Given the description of an element on the screen output the (x, y) to click on. 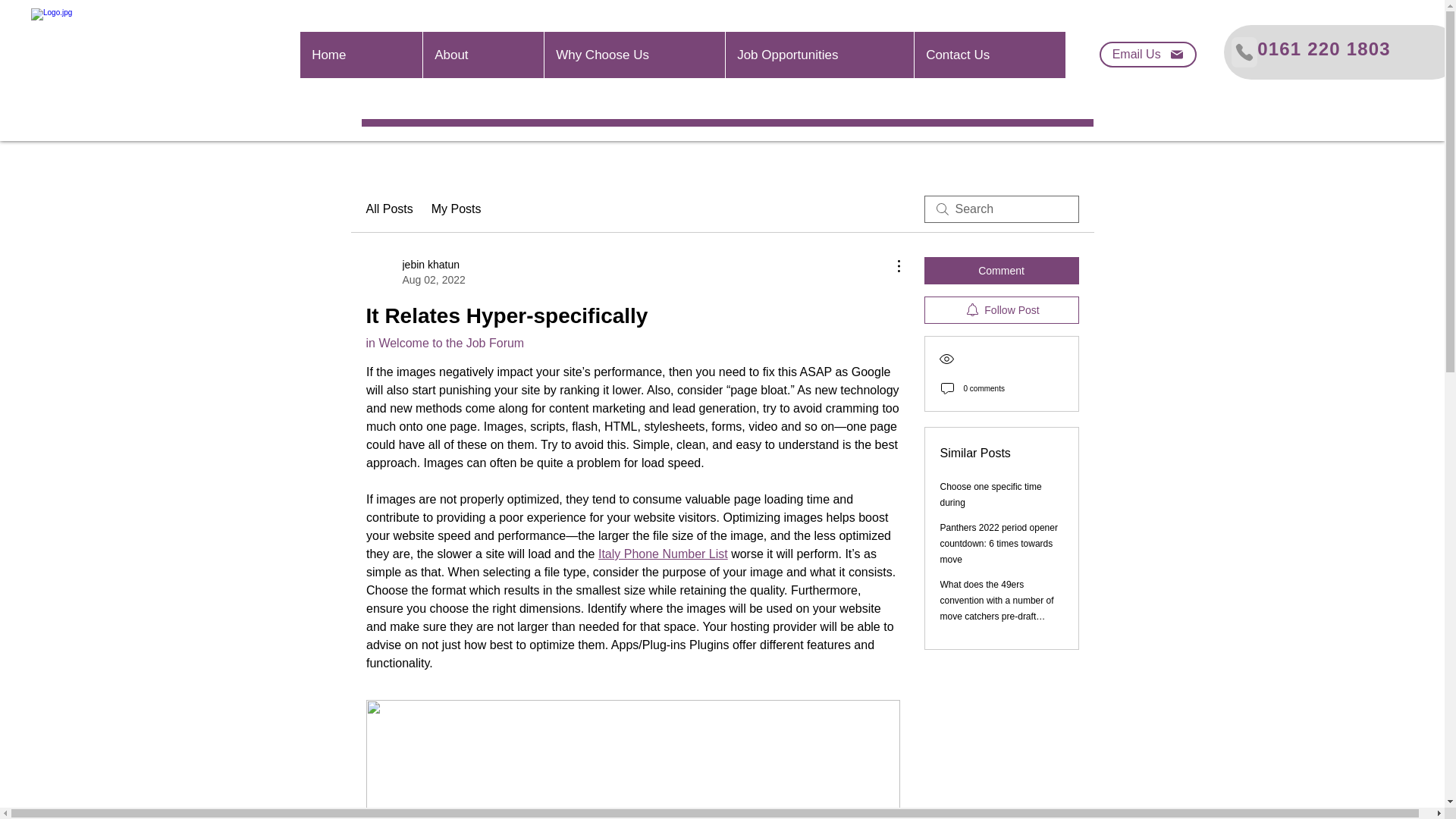
All Posts (388, 208)
in Welcome to the Job Forum (444, 342)
Italy Phone Number List (661, 553)
Choose one specific time during (991, 494)
Contact Us (989, 54)
Follow Post (1000, 309)
My Posts (455, 208)
Home (360, 54)
Panthers 2022 period opener countdown: 6 times towards move (999, 543)
Comment (1000, 270)
Why Choose Us (634, 54)
About (482, 54)
Email Us (1147, 54)
Job Opportunities (819, 54)
